Given the description of an element on the screen output the (x, y) to click on. 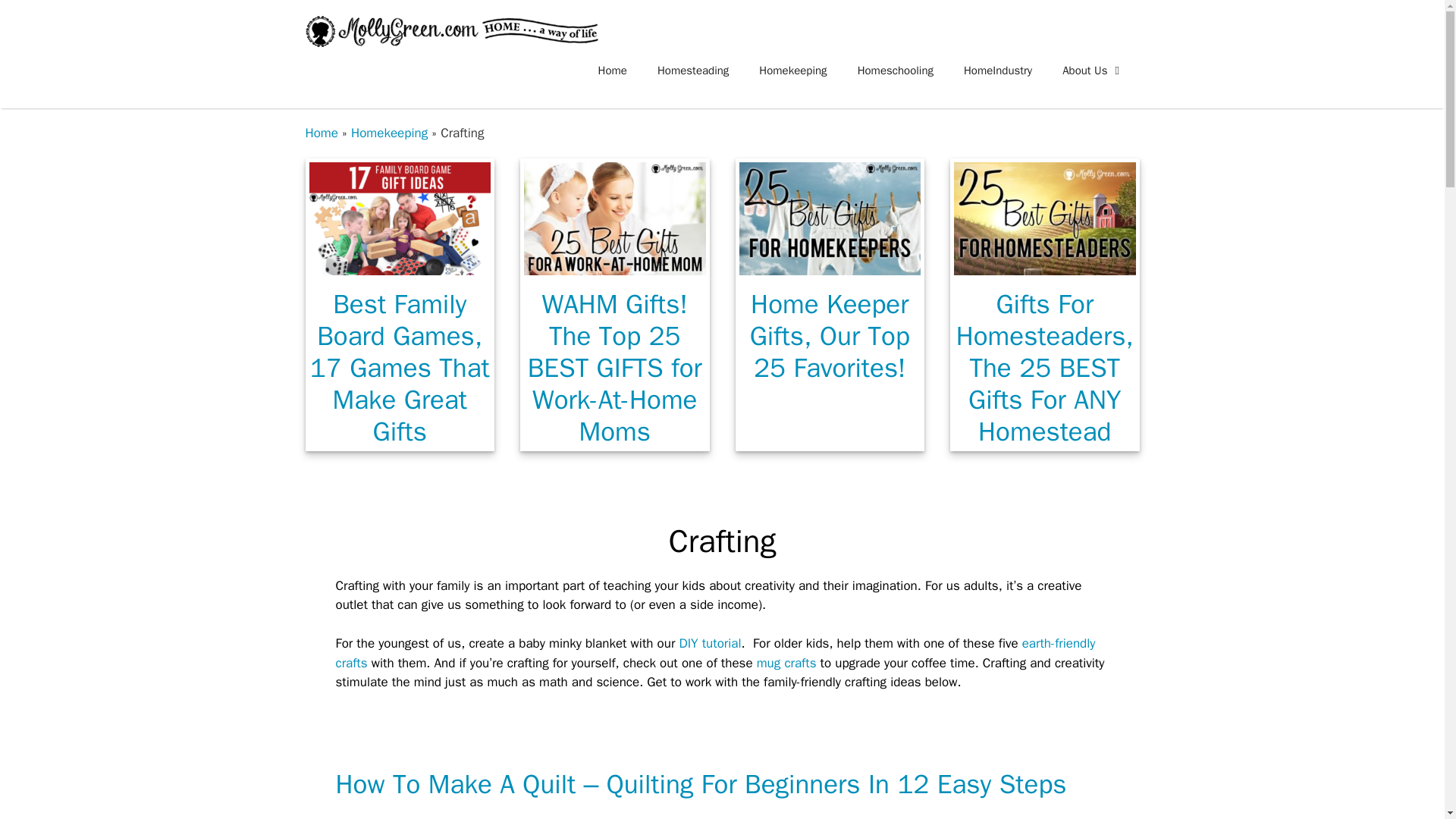
mug crafts (786, 662)
Gifts For Homesteaders, The 25 BEST Gifts For ANY Homestead (1045, 367)
Homeschooling (896, 70)
Homekeeping (792, 70)
earth-friendly crafts (714, 652)
Home Keeper Gifts, Our Top 25 Favorites! (829, 265)
Gifts For Homesteaders, The 25 BEST Gifts For ANY Homestead (1044, 265)
DIY tutorial (709, 643)
Homekeeping (389, 132)
Homesteading (693, 70)
Best Family Board Games, 17 Games That Make Great Gifts (400, 265)
WAHM Gifts! The Top 25 BEST GIFTS for Work-At-Home Moms (615, 265)
Best Family Board Games, 17 Games That Make Great Gifts (399, 367)
WAHM Gifts! The Top 25 BEST GIFTS for Work-At-Home Moms (614, 367)
Home (612, 70)
